Given the description of an element on the screen output the (x, y) to click on. 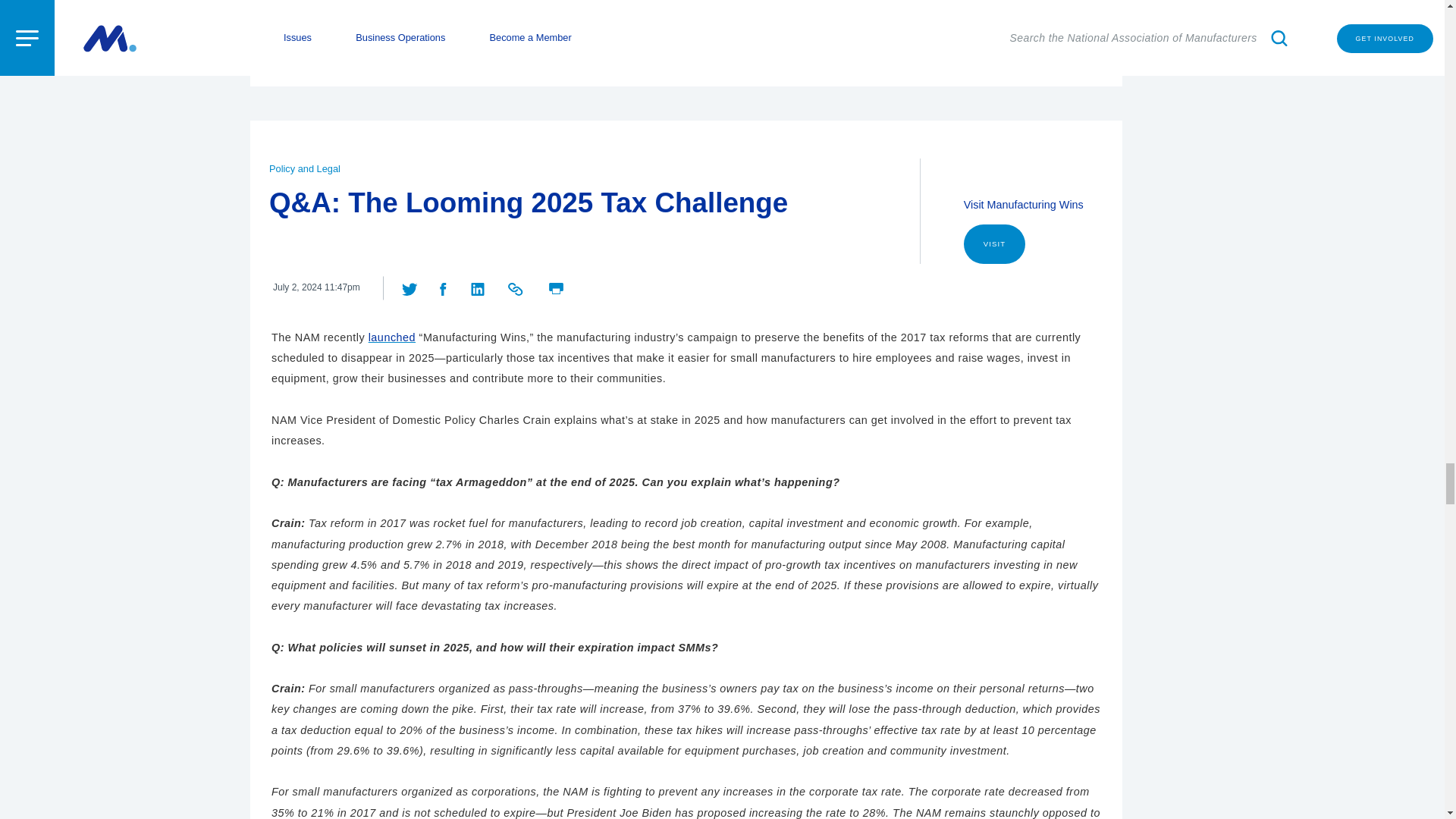
Tuesday, July 2nd at 11:47pm (316, 287)
